Given the description of an element on the screen output the (x, y) to click on. 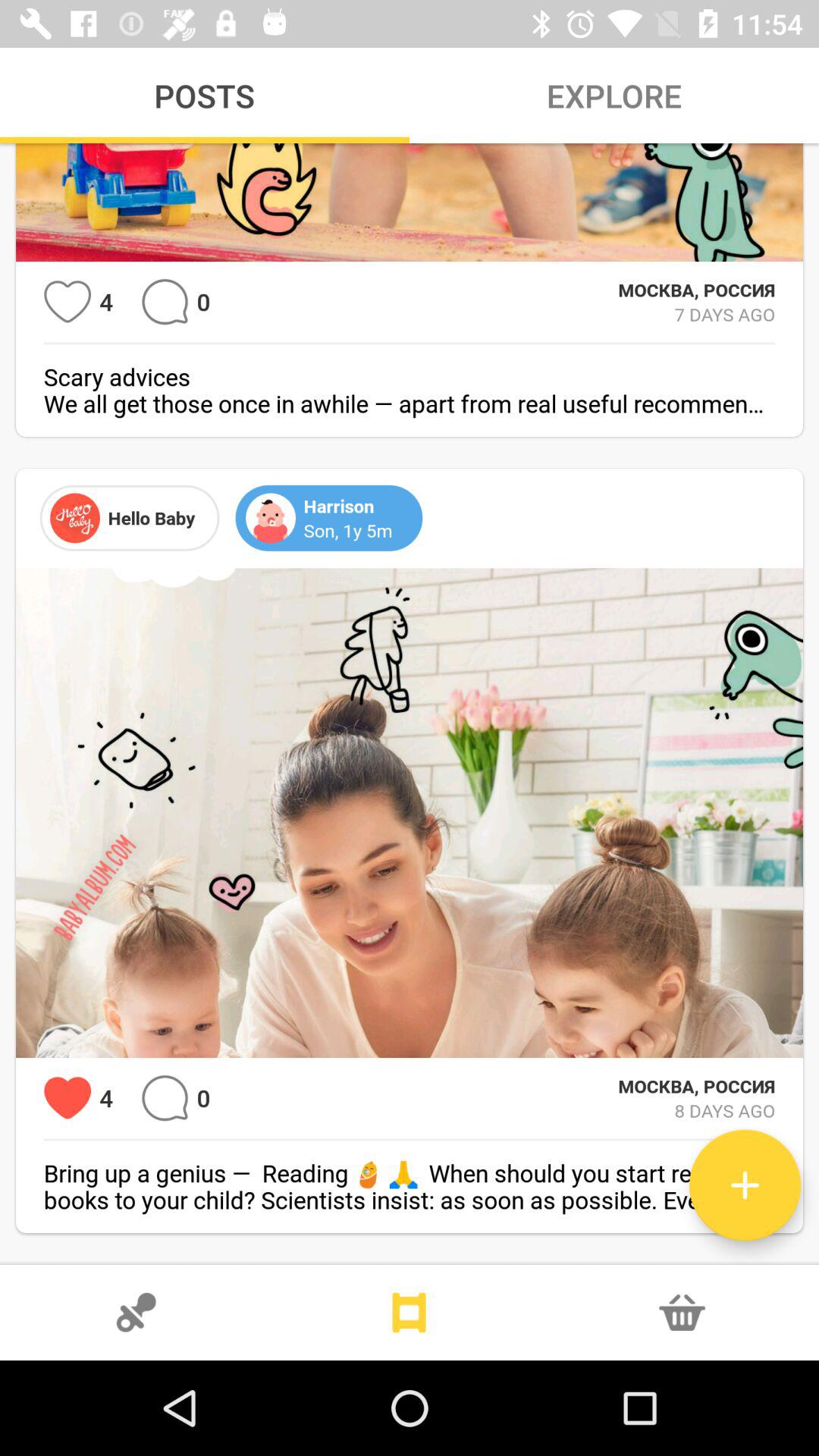
like page (67, 1098)
